Given the description of an element on the screen output the (x, y) to click on. 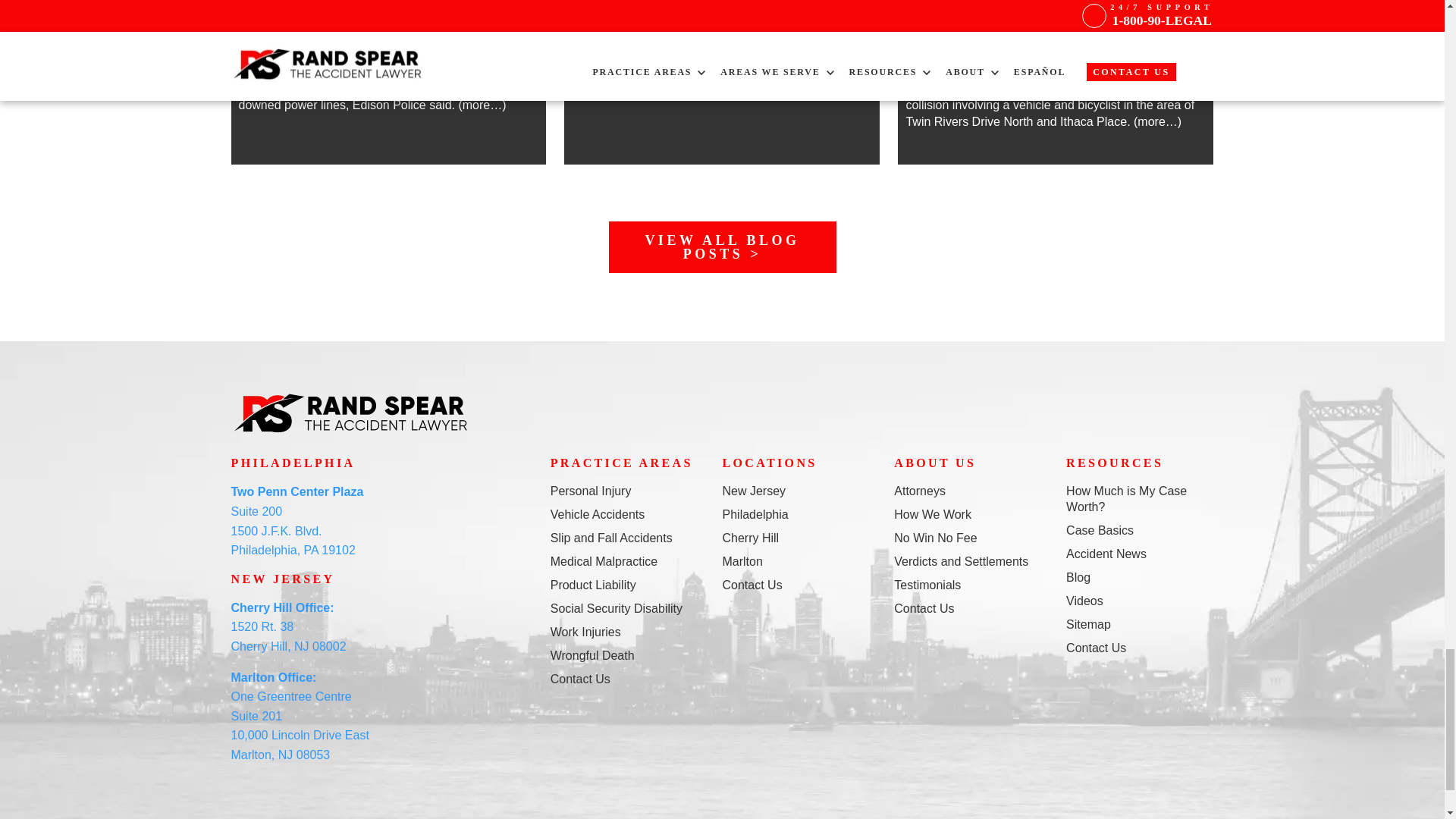
READ MORE (388, 18)
